Given the description of an element on the screen output the (x, y) to click on. 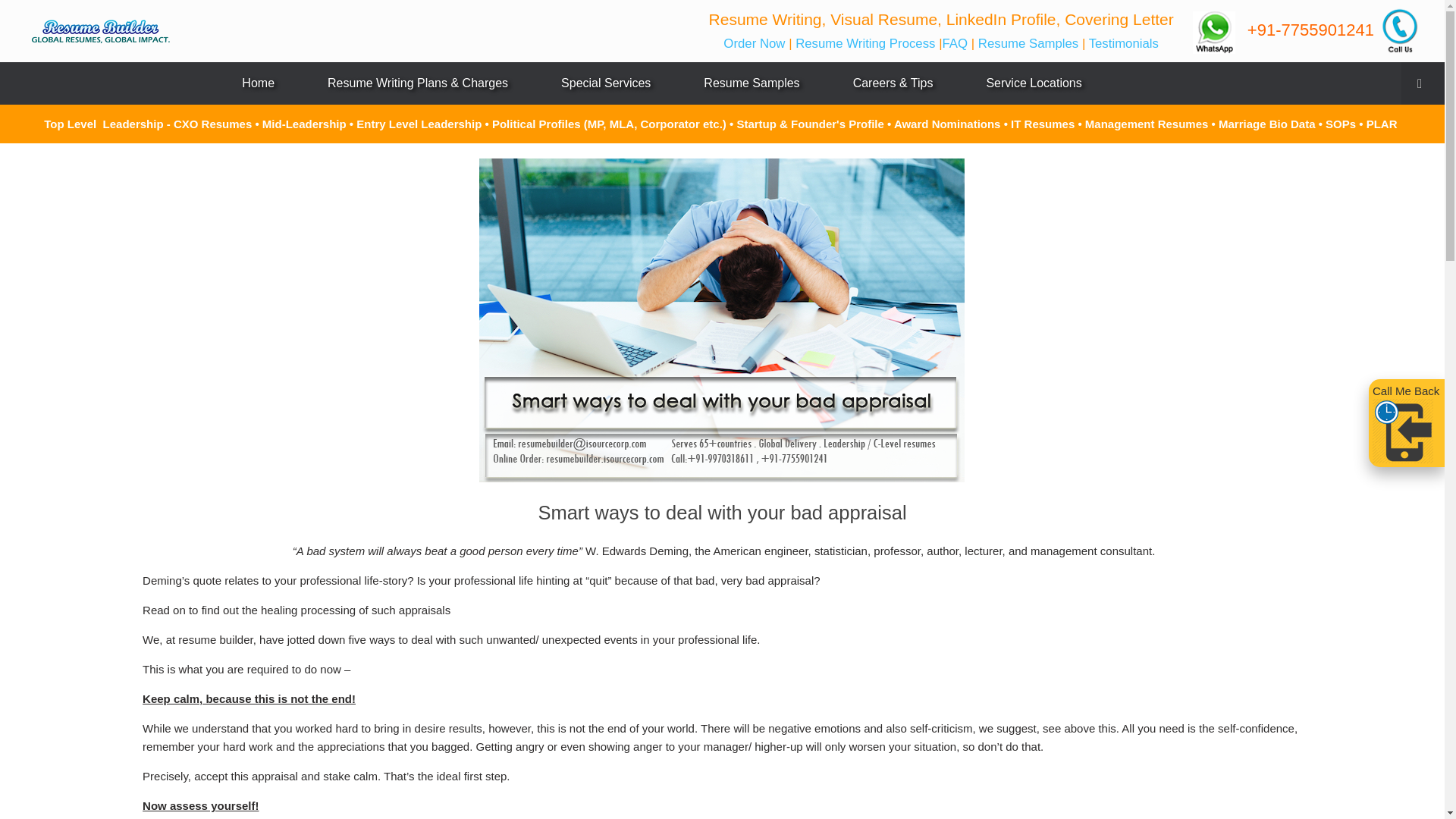
Order Now (756, 43)
Testimonials (1123, 43)
Home (258, 83)
Plans and Charges, place online orders (417, 83)
Resume Samples (1028, 43)
FAQ (956, 43)
Resume Writing Process (863, 43)
Special Services (605, 83)
